Given the description of an element on the screen output the (x, y) to click on. 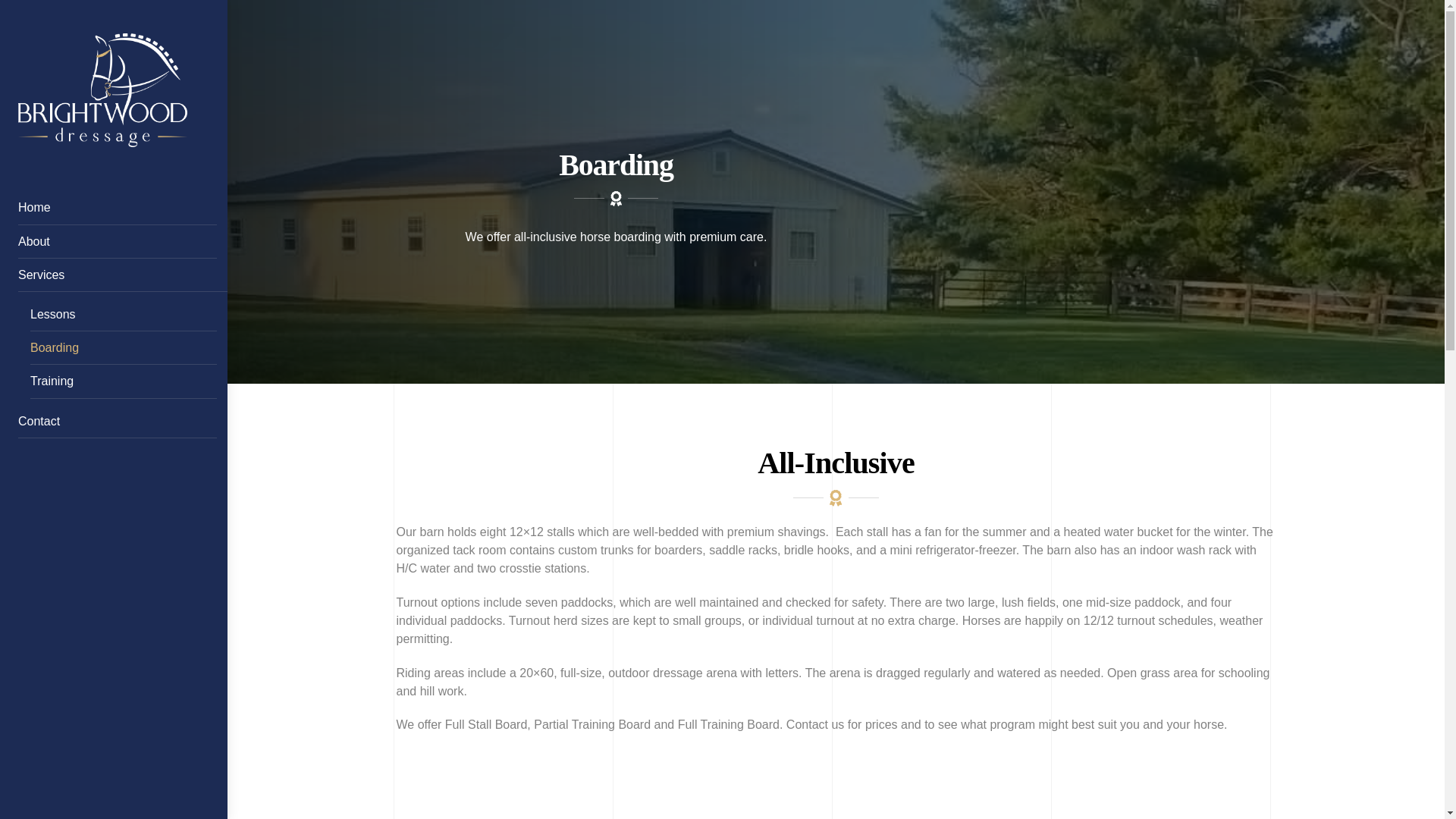
Training (123, 381)
Contact (116, 421)
Brightwood-logo-white-transparent (102, 90)
Boarding (123, 348)
Brightwood Dressage (102, 140)
Home (116, 208)
Services (133, 274)
About (116, 241)
Lessons (123, 314)
